Given the description of an element on the screen output the (x, y) to click on. 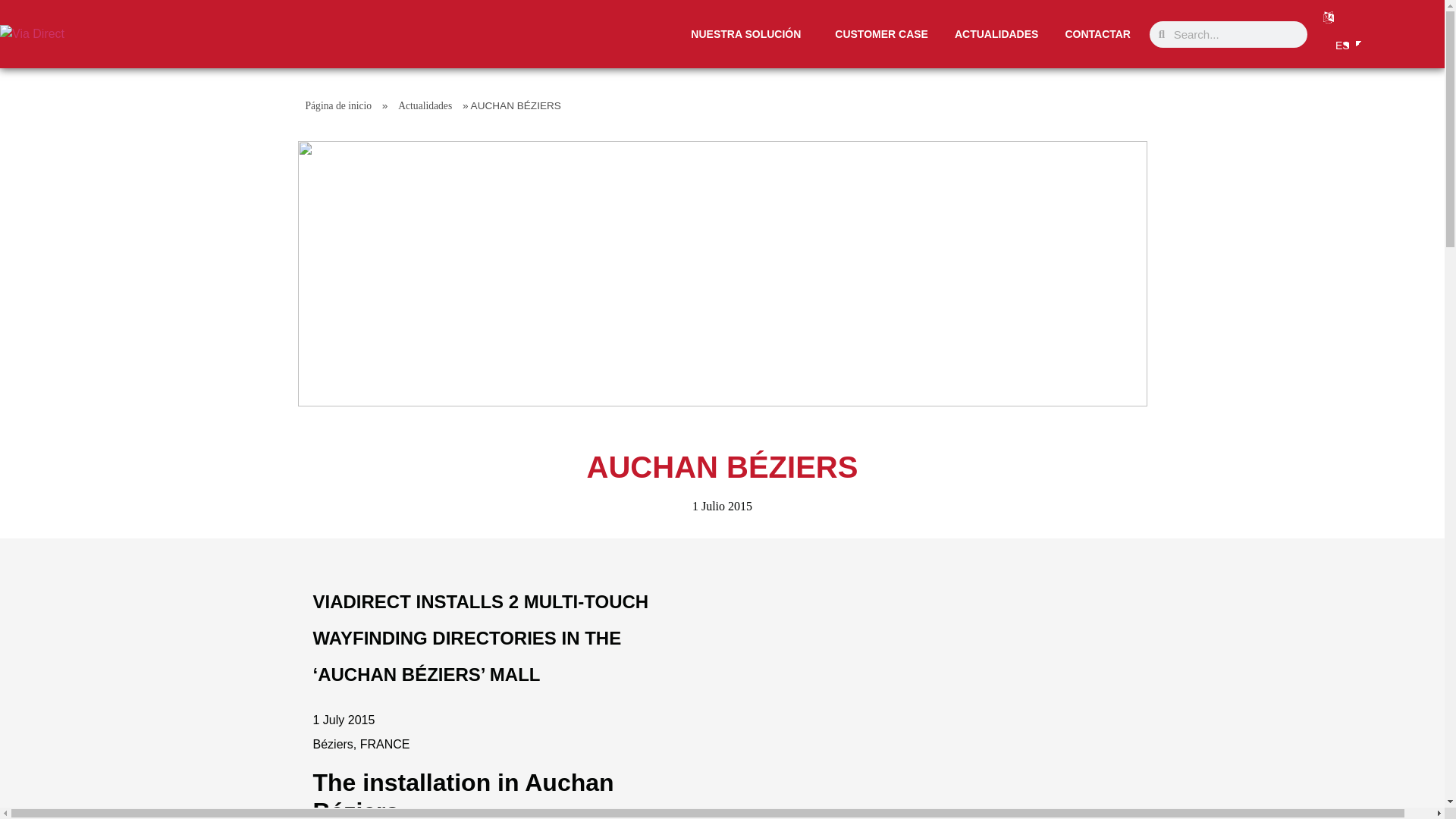
CUSTOMER CASE (881, 33)
Actualidades (425, 105)
ACTUALIDADES (996, 33)
1 Julio 2015 (722, 506)
CONTACTAR (1096, 33)
